Given the description of an element on the screen output the (x, y) to click on. 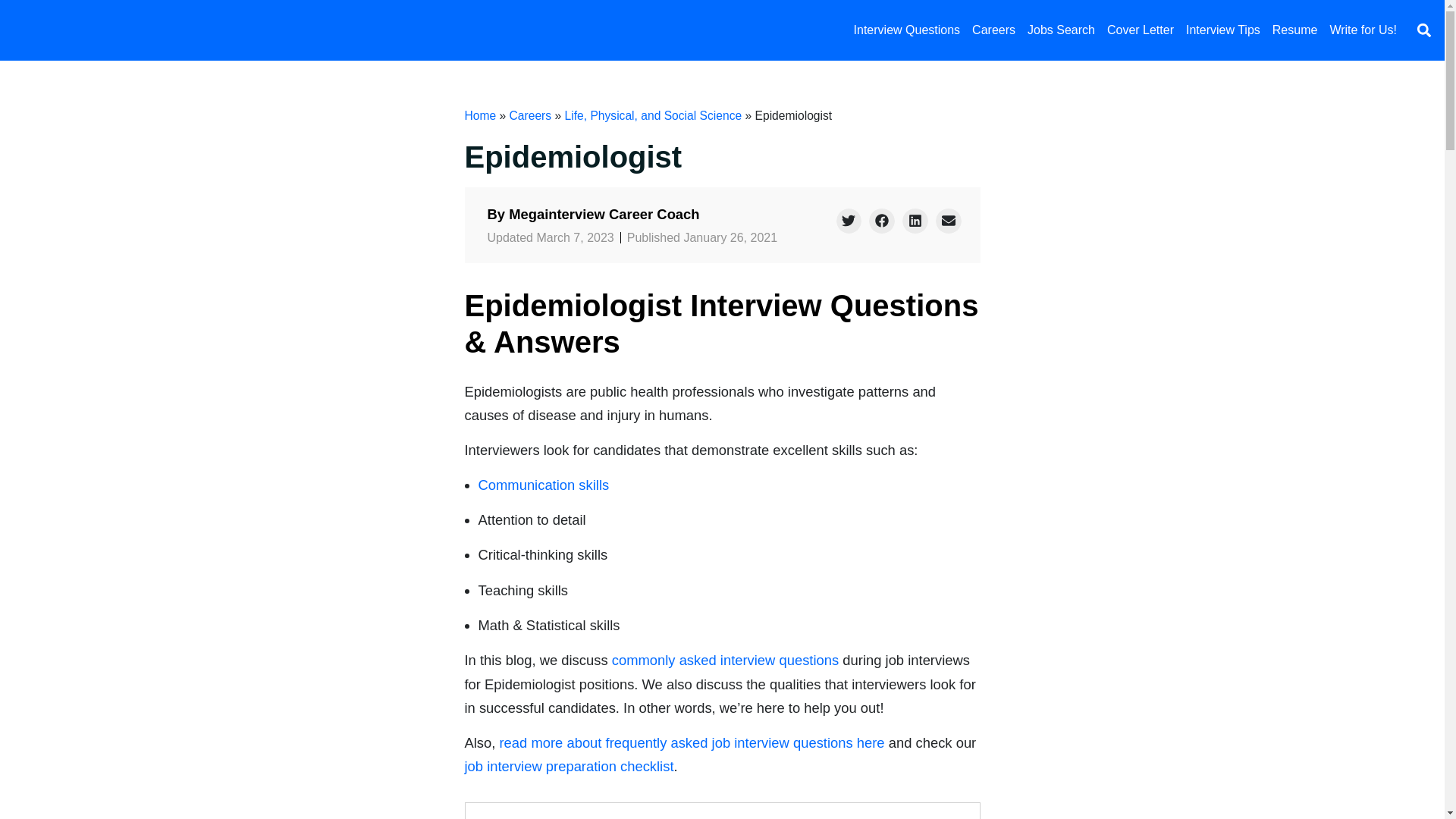
Jobs Search (1060, 30)
Interview Questions (906, 30)
Cover Letter (1139, 30)
megainterview-logo-svg (101, 30)
